Given the description of an element on the screen output the (x, y) to click on. 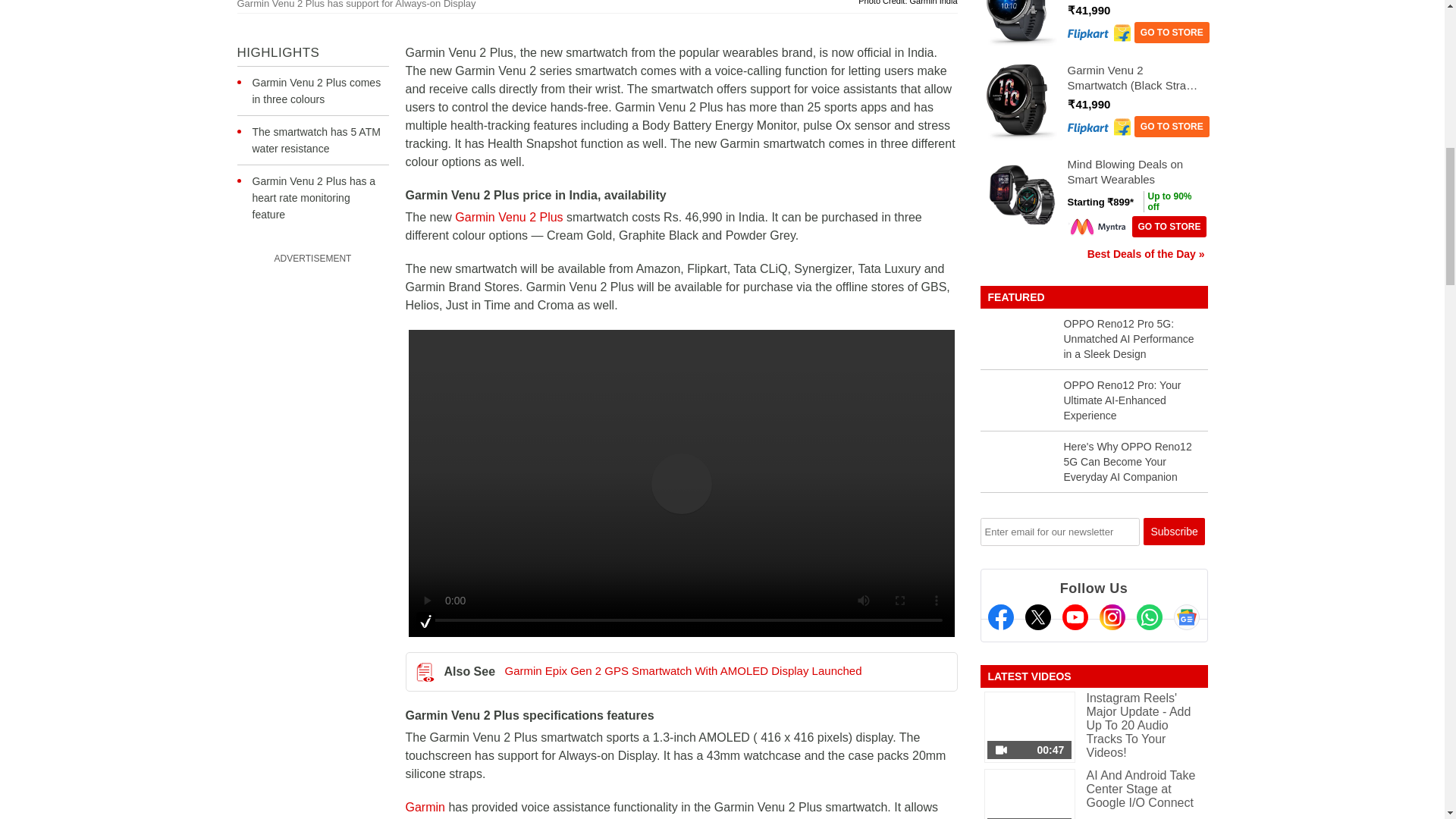
Subscribe (1173, 531)
